Given the description of an element on the screen output the (x, y) to click on. 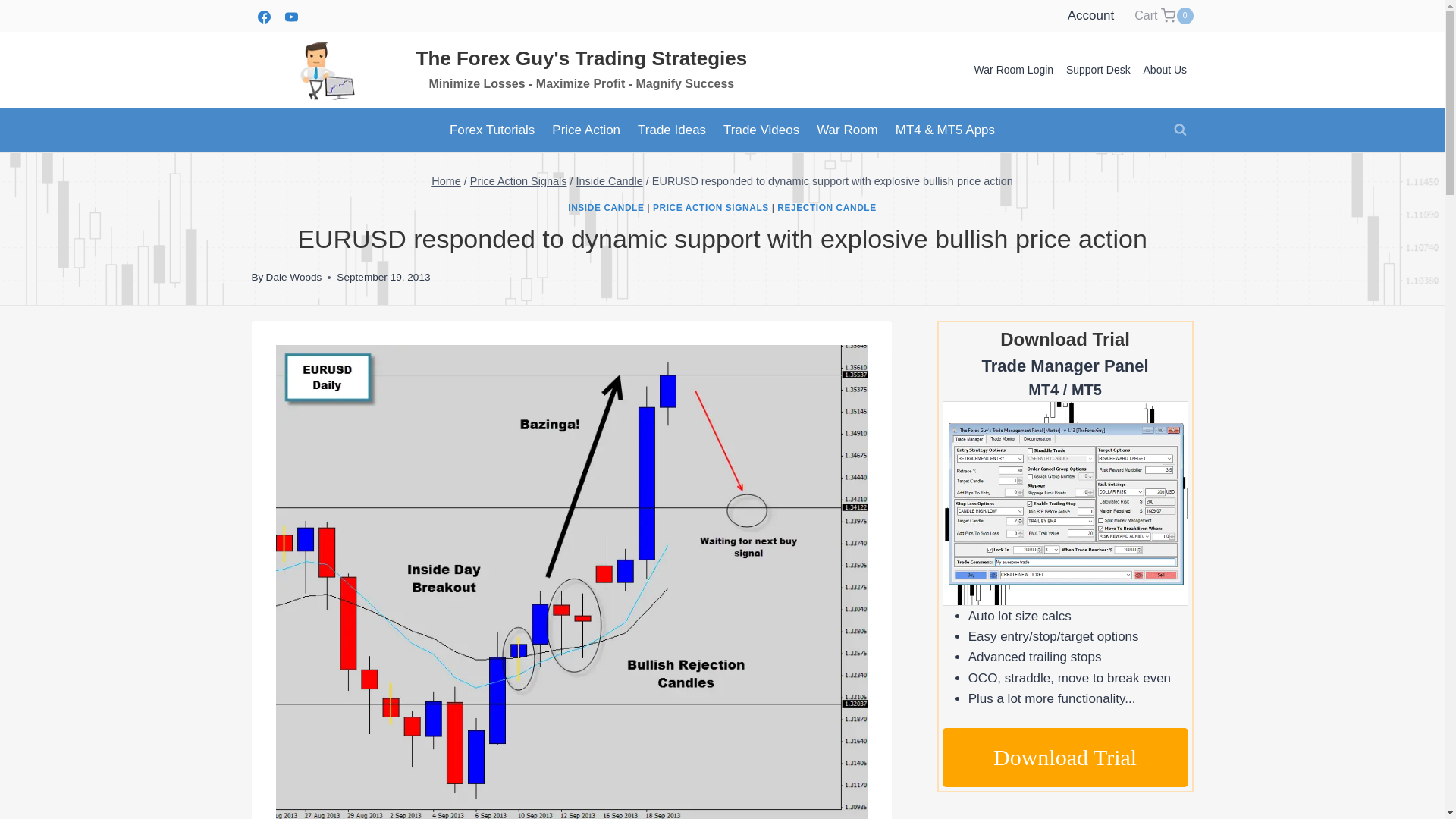
About Us (1164, 69)
Download Trial (1065, 757)
INSIDE CANDLE (605, 207)
Forex Tutorials (492, 129)
PRICE ACTION SIGNALS (1163, 15)
Account (710, 207)
Inside Candle (1090, 15)
War Room Login (609, 181)
Home (1013, 69)
Trade Videos (445, 181)
Price Action Signals (761, 129)
War Room (518, 181)
Dale Woods (847, 129)
Trade Ideas (293, 276)
